Given the description of an element on the screen output the (x, y) to click on. 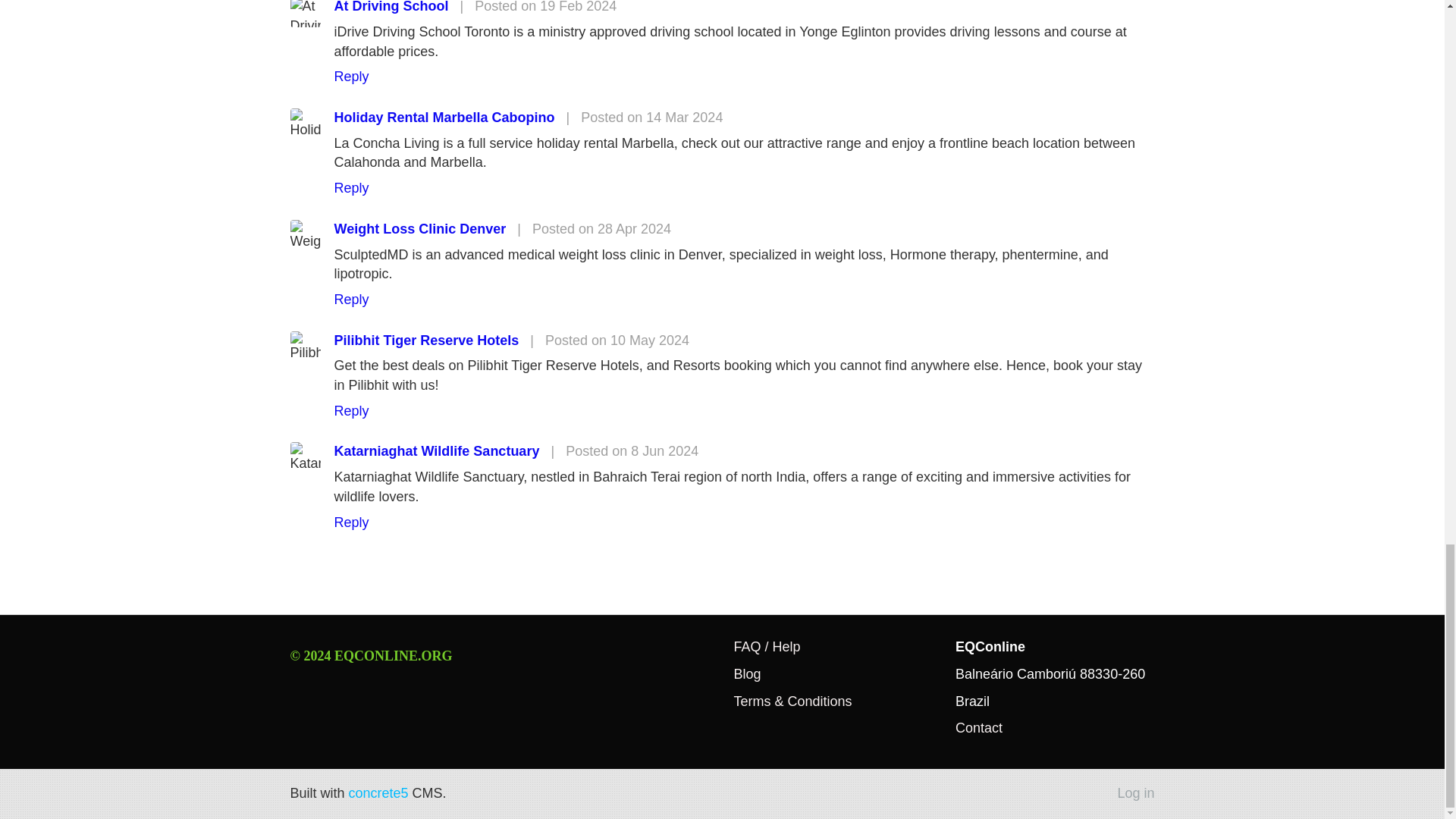
At Driving School (390, 6)
